Given the description of an element on the screen output the (x, y) to click on. 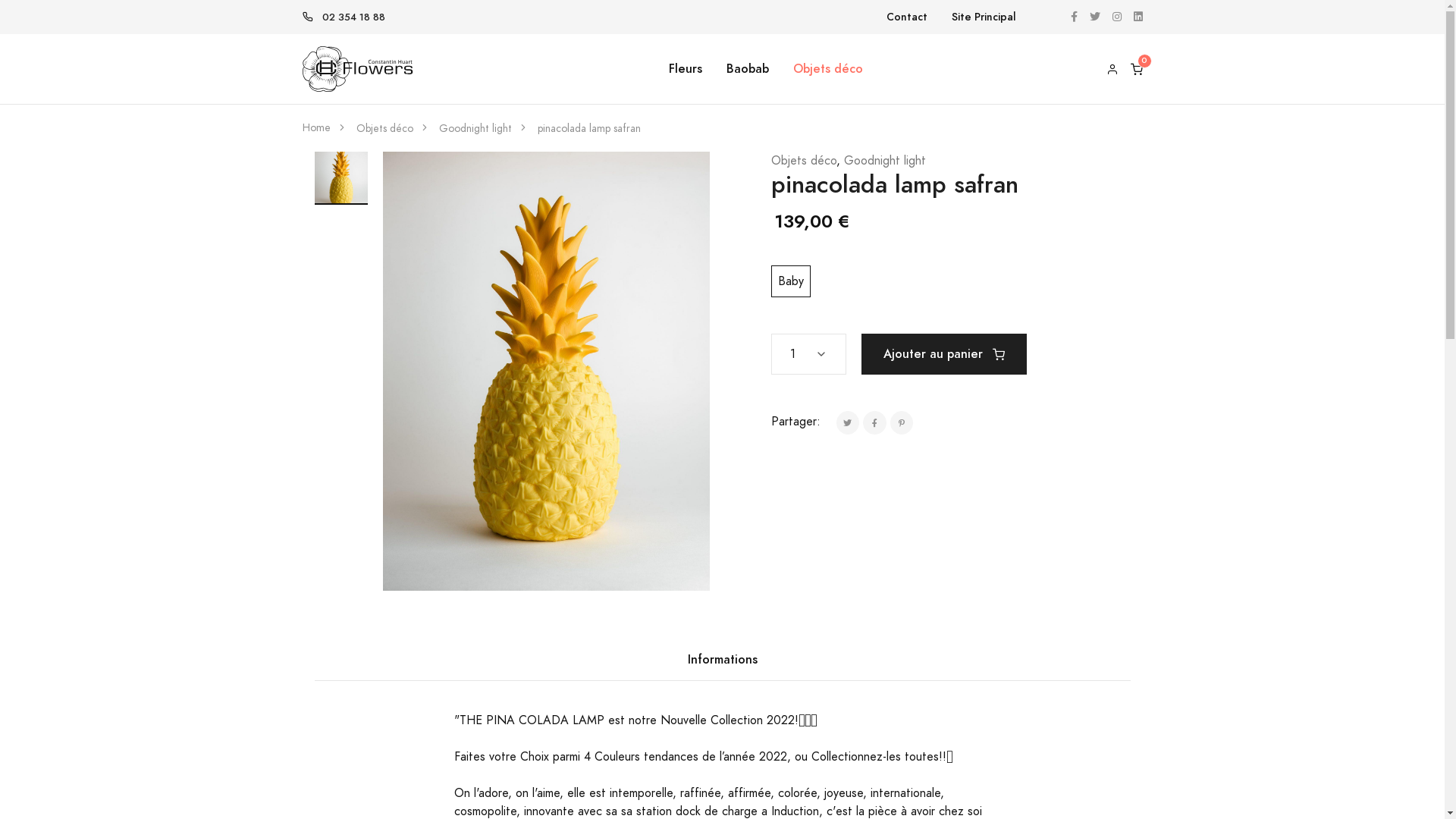
02 354 18 88 Element type: text (352, 17)
pinacolada lamp safran Element type: text (588, 128)
Baobab Element type: text (747, 68)
Goodnight light Element type: text (884, 160)
Fleurs Element type: text (685, 68)
Goodnight light Element type: text (474, 128)
Informations Element type: text (721, 659)
Contact Element type: text (905, 17)
Site Principal Element type: text (982, 17)
Home Element type: text (315, 127)
Ajouter au panier Element type: text (943, 353)
